Given the description of an element on the screen output the (x, y) to click on. 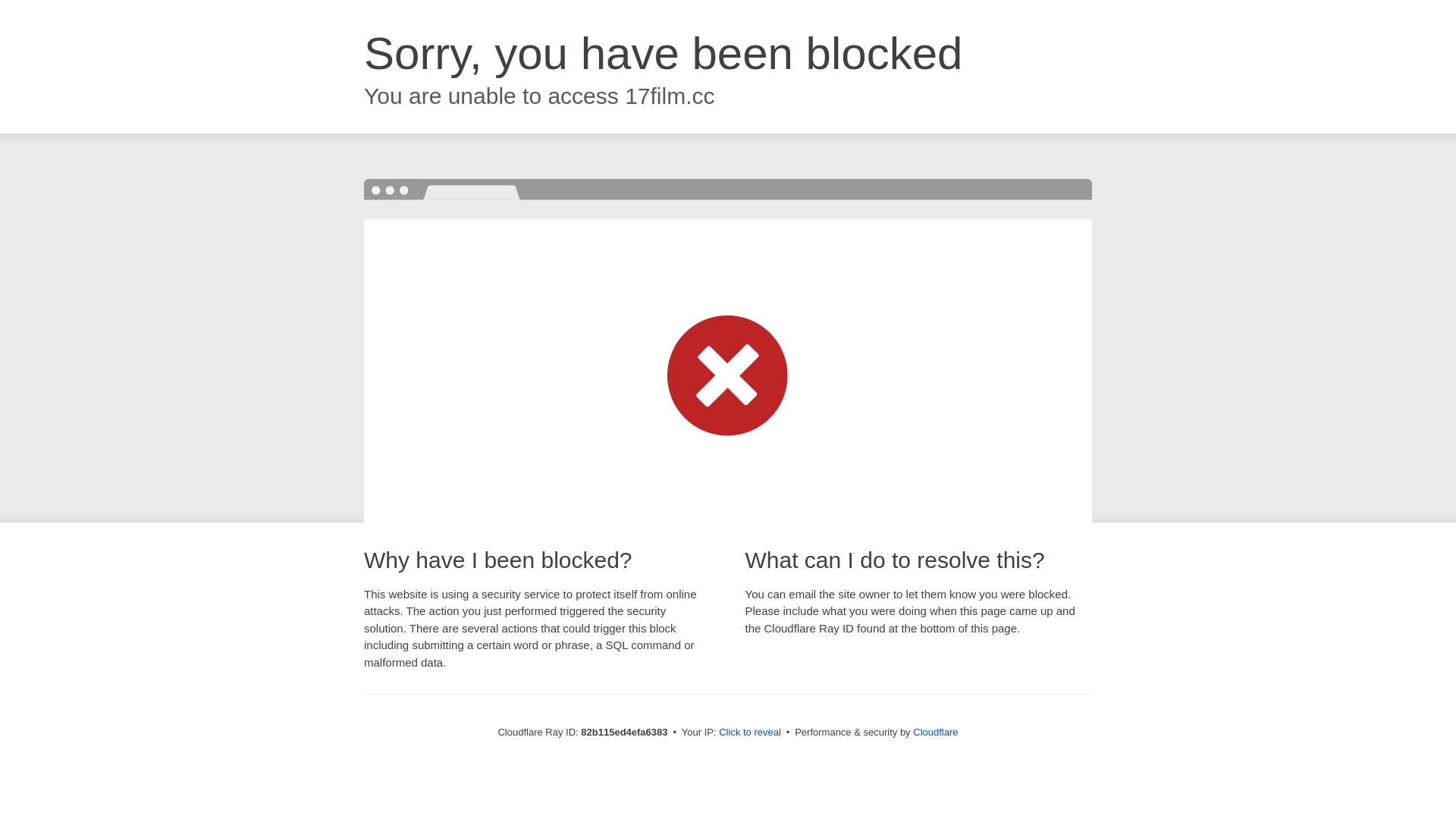
Click to reveal Element type: text (749, 732)
Cloudflare Element type: text (935, 731)
